Given the description of an element on the screen output the (x, y) to click on. 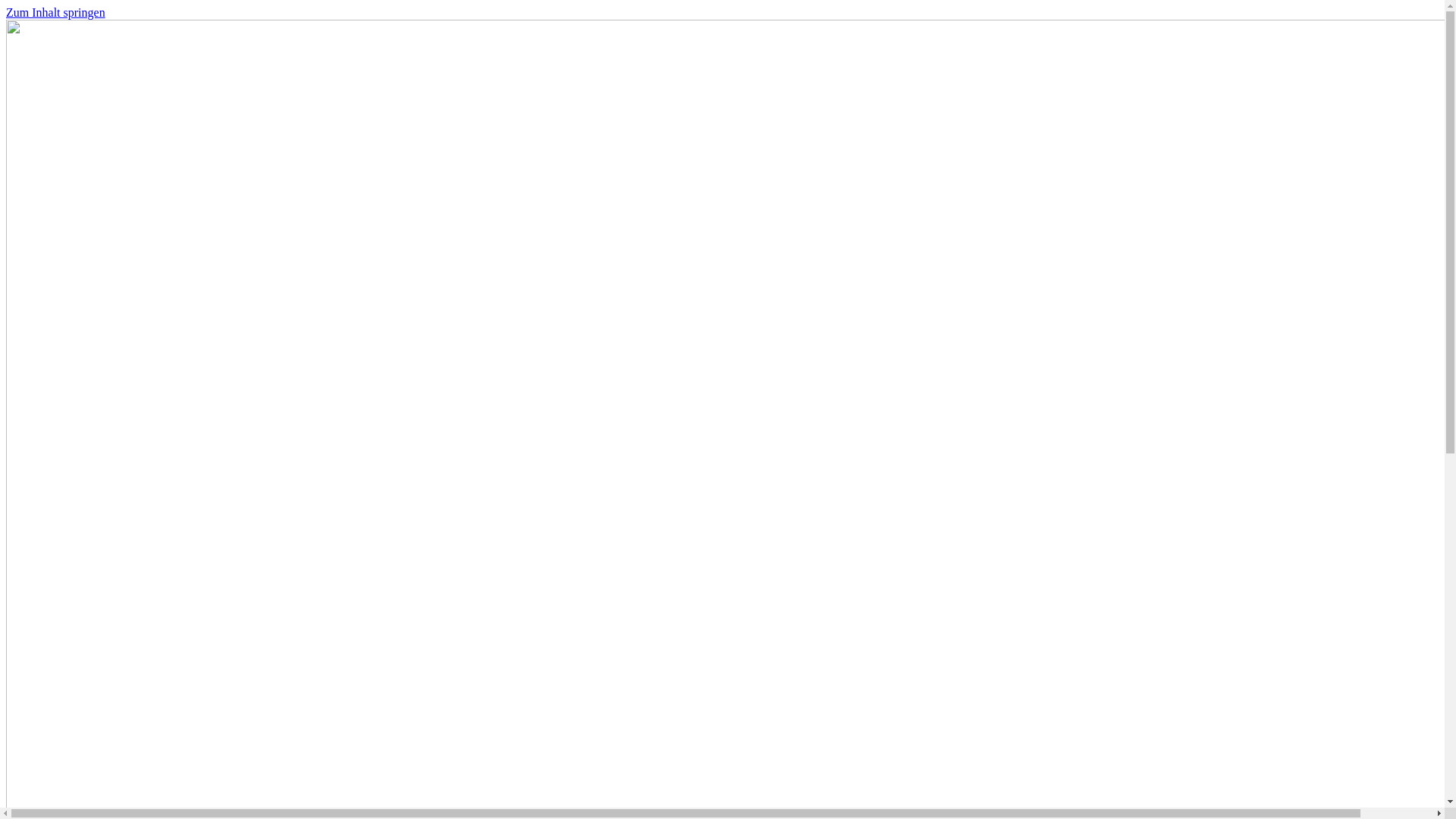
Zum Inhalt springen Element type: text (55, 12)
